Given the description of an element on the screen output the (x, y) to click on. 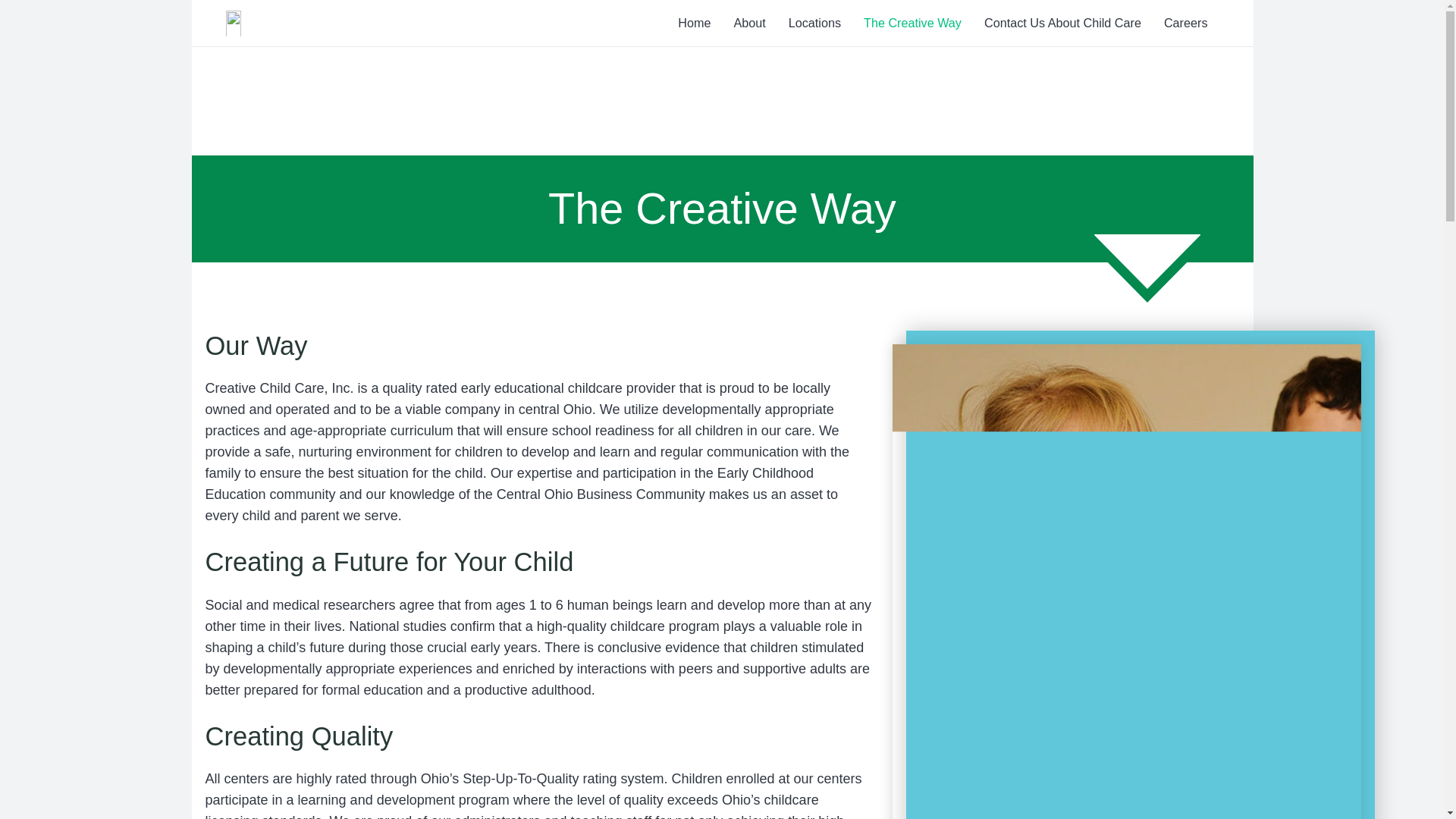
Locations (814, 22)
Home (694, 22)
The Creative Way (911, 22)
Careers (1186, 22)
Contact Us About Child Care (1062, 22)
About (749, 22)
